Given the description of an element on the screen output the (x, y) to click on. 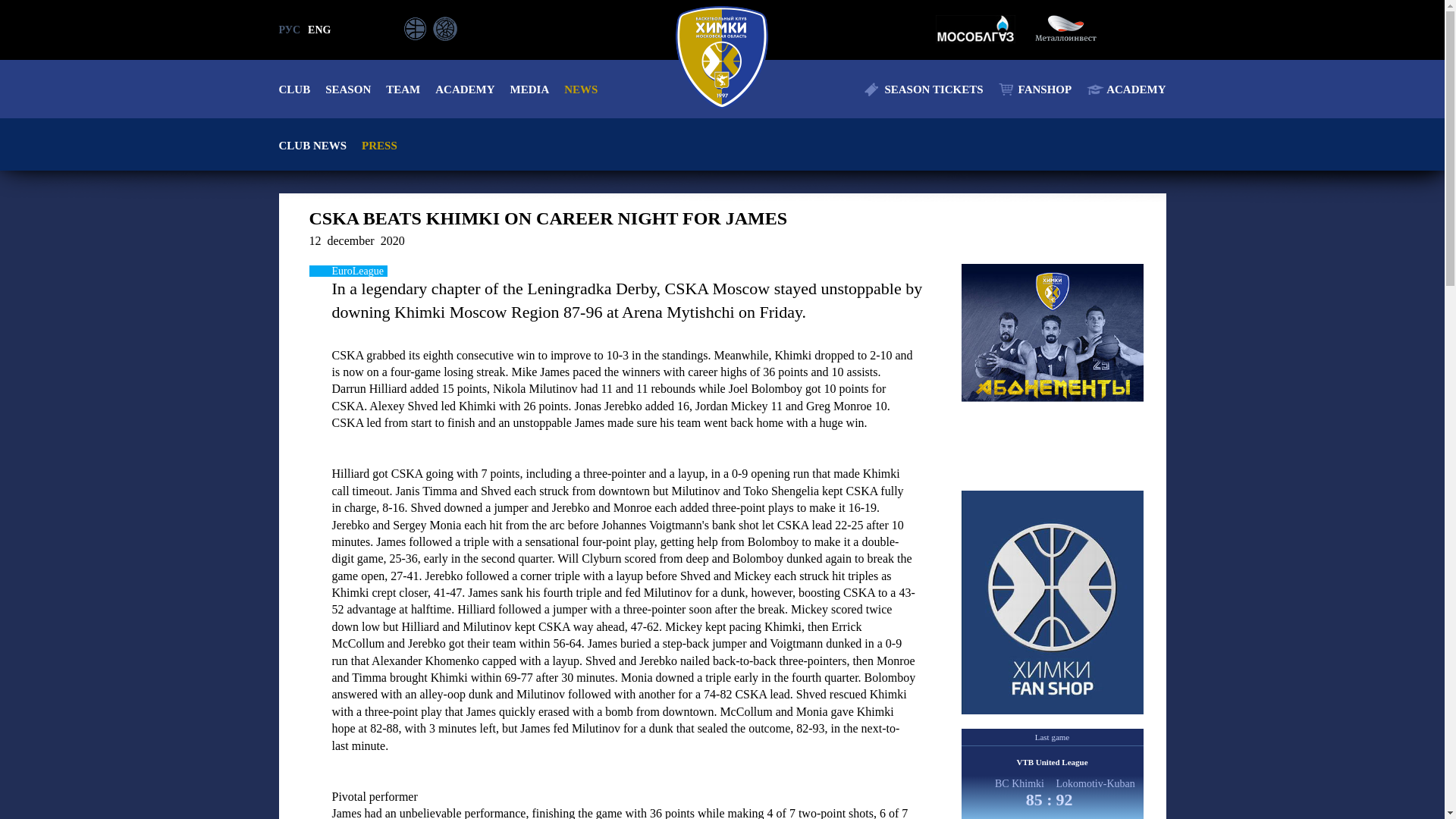
ACADEMY (465, 89)
SEASON (347, 89)
FANSHOP (1034, 89)
ENG (318, 30)
PRESS (379, 145)
NEWS (580, 89)
SEASON TICKETS (923, 89)
ACADEMY (1126, 89)
CLUB NEWS (313, 145)
CLUB (295, 89)
